Given the description of an element on the screen output the (x, y) to click on. 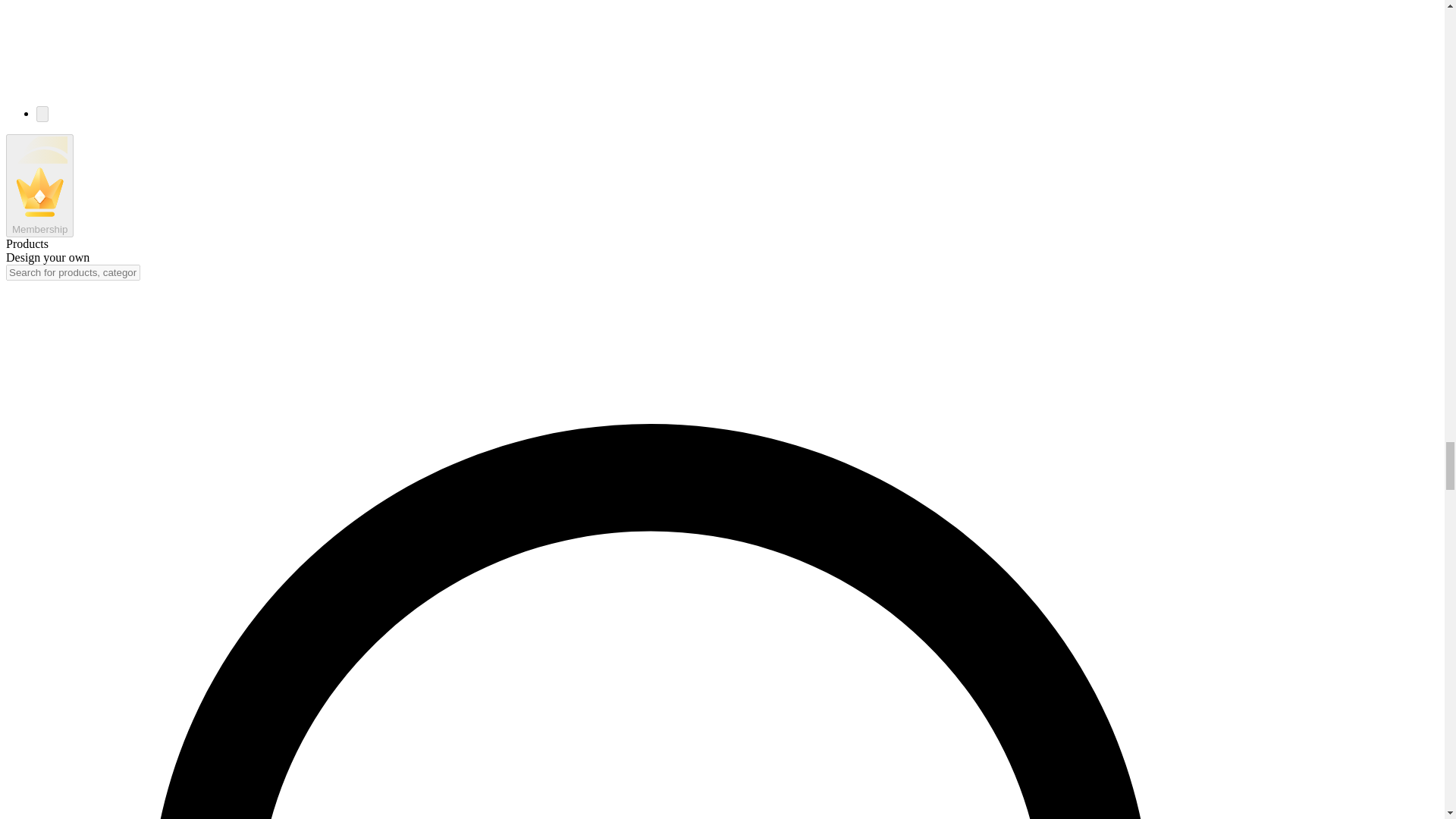
Membership (39, 185)
